Given the description of an element on the screen output the (x, y) to click on. 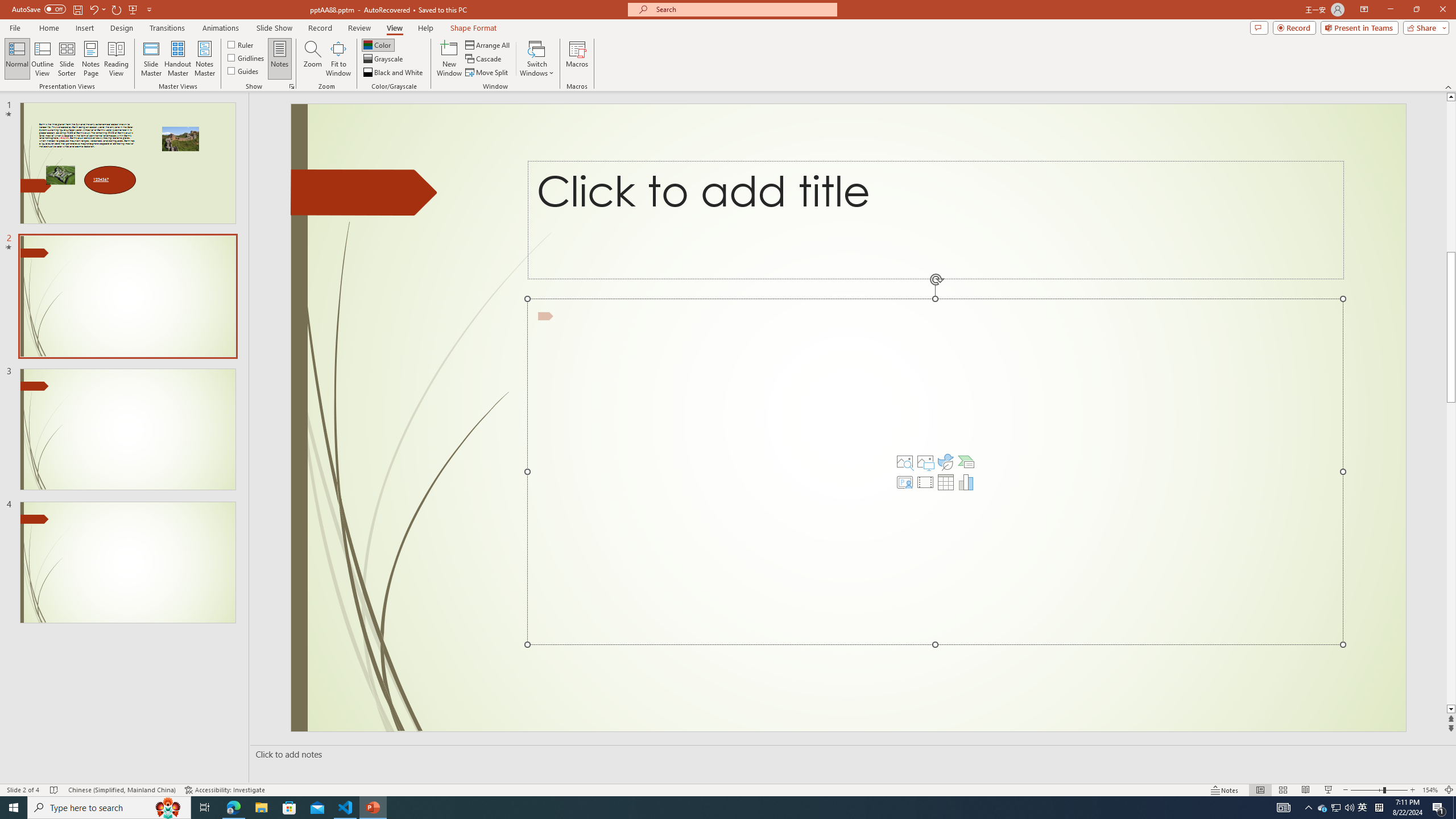
Notes (279, 58)
Handout Master (177, 58)
Notes Master (204, 58)
Outline View (42, 58)
